Given the description of an element on the screen output the (x, y) to click on. 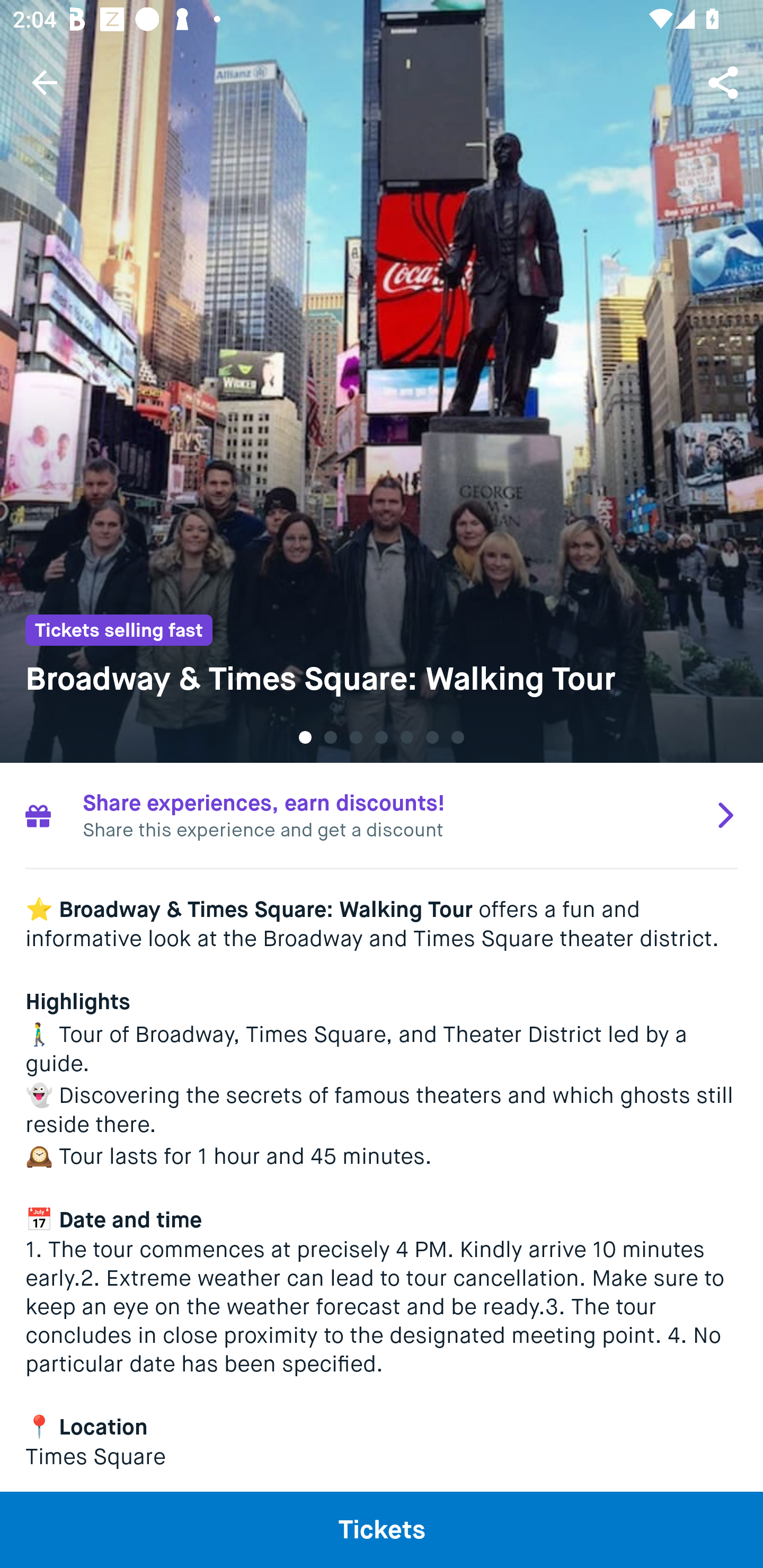
Navigate up (44, 82)
Share (724, 81)
Tickets (381, 1529)
